Given the description of an element on the screen output the (x, y) to click on. 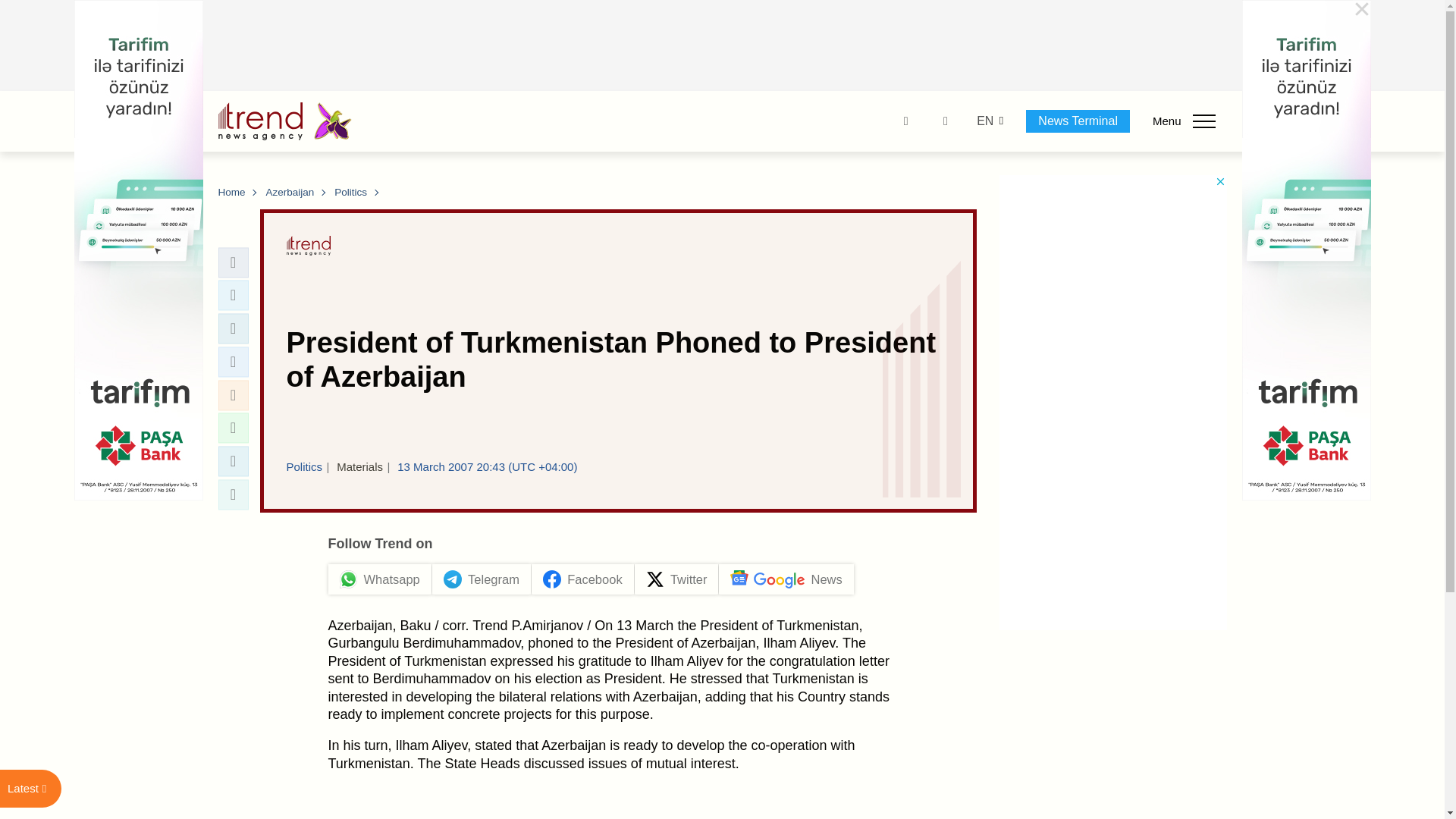
3rd party ad content (722, 45)
English (984, 121)
News Terminal (1077, 120)
EN (984, 121)
